Given the description of an element on the screen output the (x, y) to click on. 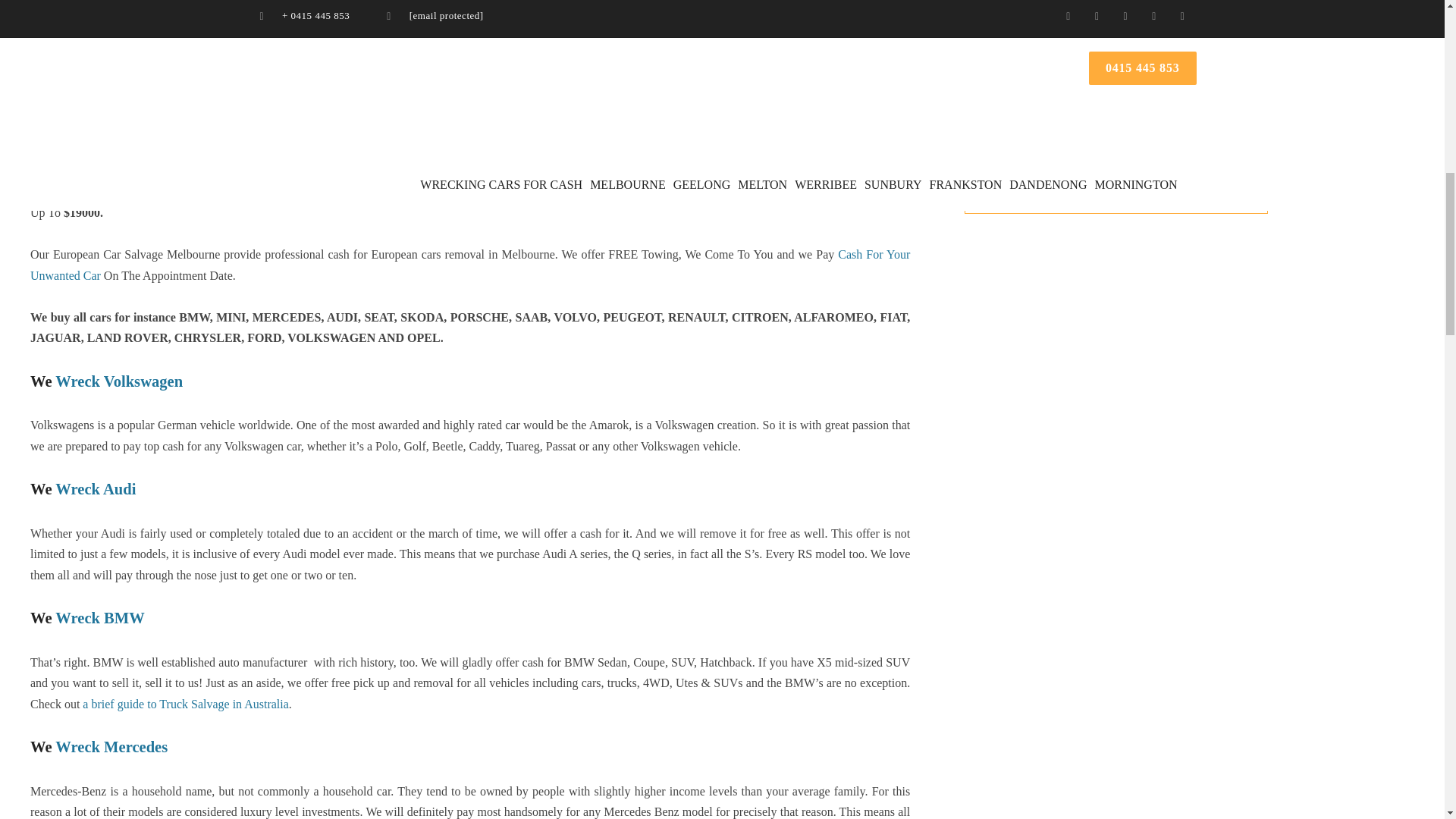
Wreck Audi (95, 488)
Wreck Mercedes (111, 746)
Get a Cash Quote (1116, 174)
a brief guide to Truck Salvage in Australia (185, 703)
Wreck BMW (99, 617)
Wreck Volkswagen (119, 381)
Cash For Your Unwanted Car (470, 264)
